Given the description of an element on the screen output the (x, y) to click on. 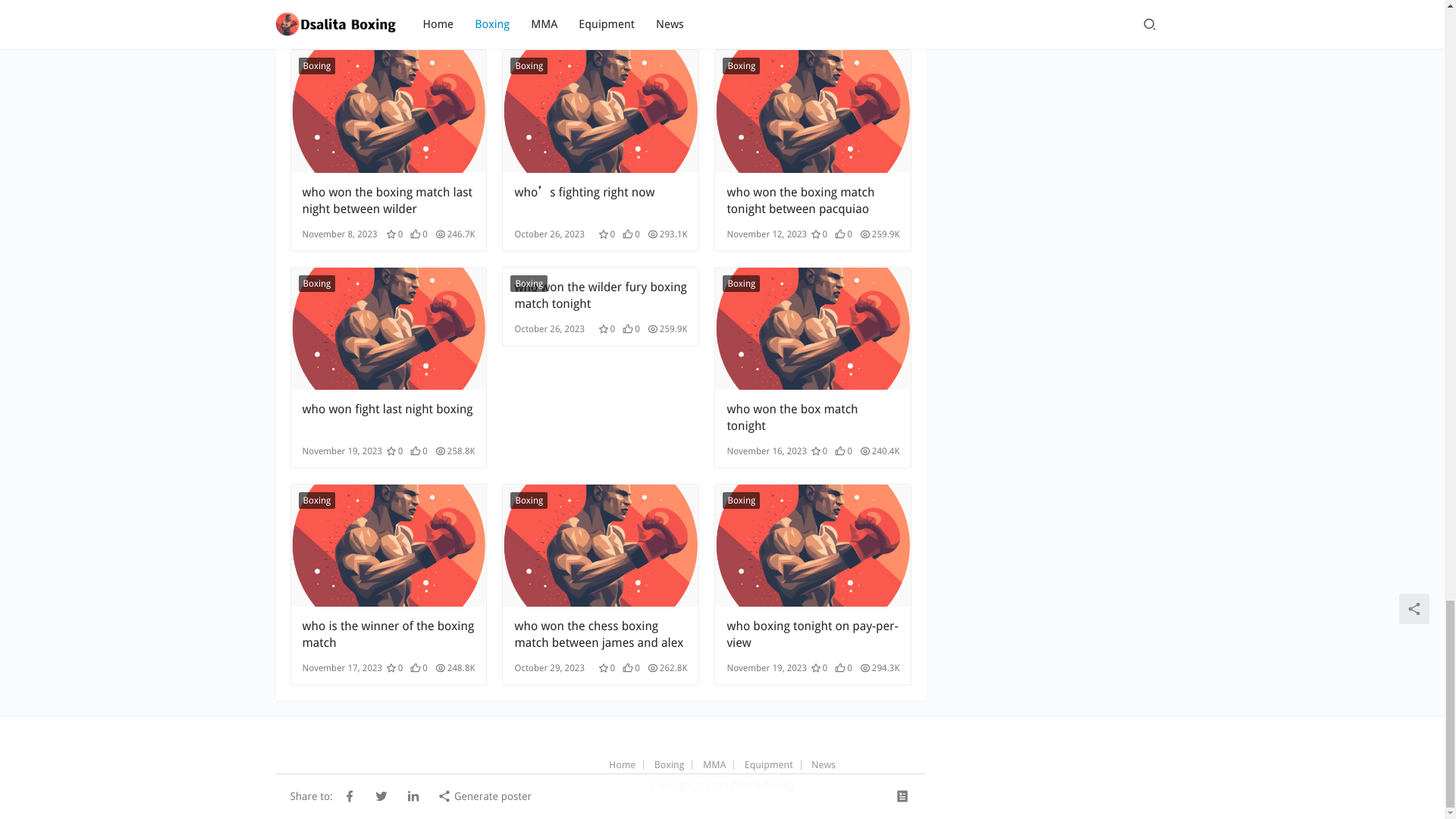
Boxing (317, 65)
Boxing (741, 65)
Boxing (317, 283)
Boxing (529, 65)
who won the boxing match last night between wilder (388, 110)
who won fight last night boxing (388, 328)
who won the boxing match last night between wilder (387, 200)
who won the wilder fury boxing match tonight (600, 295)
who won the boxing match tonight between pacquiao (812, 200)
who won the boxing match tonight between pacquiao (812, 110)
who won the boxing match last night between wilder (387, 200)
who won fight last night boxing (387, 417)
who won the boxing match tonight between pacquiao (812, 200)
